Given the description of an element on the screen output the (x, y) to click on. 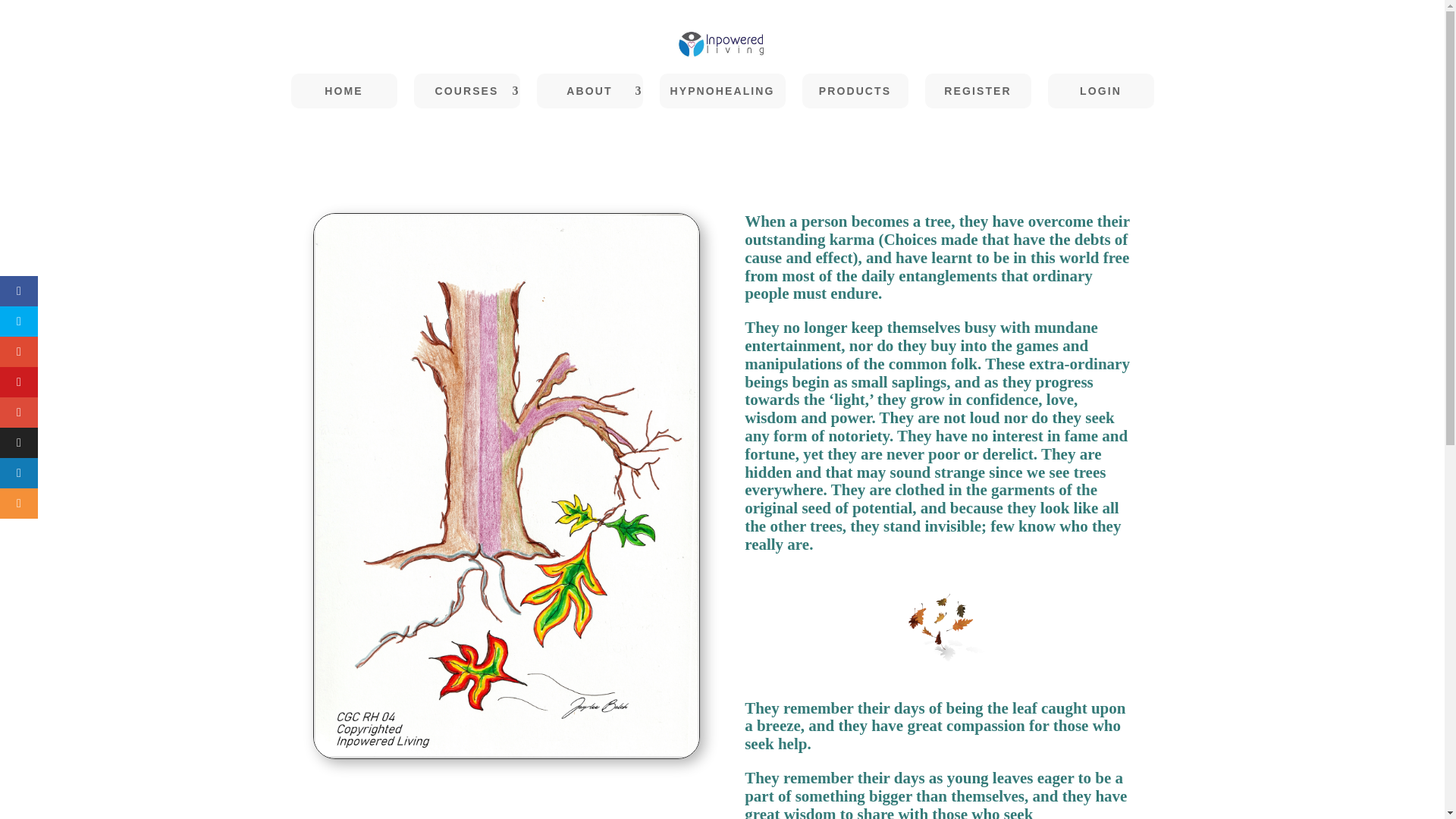
PRODUCTS (855, 90)
COURSES (466, 90)
REGISTER (977, 90)
HOME (344, 90)
ABOUT (590, 90)
HYPNOHEALING (722, 90)
LOGIN (1101, 90)
